Given the description of an element on the screen output the (x, y) to click on. 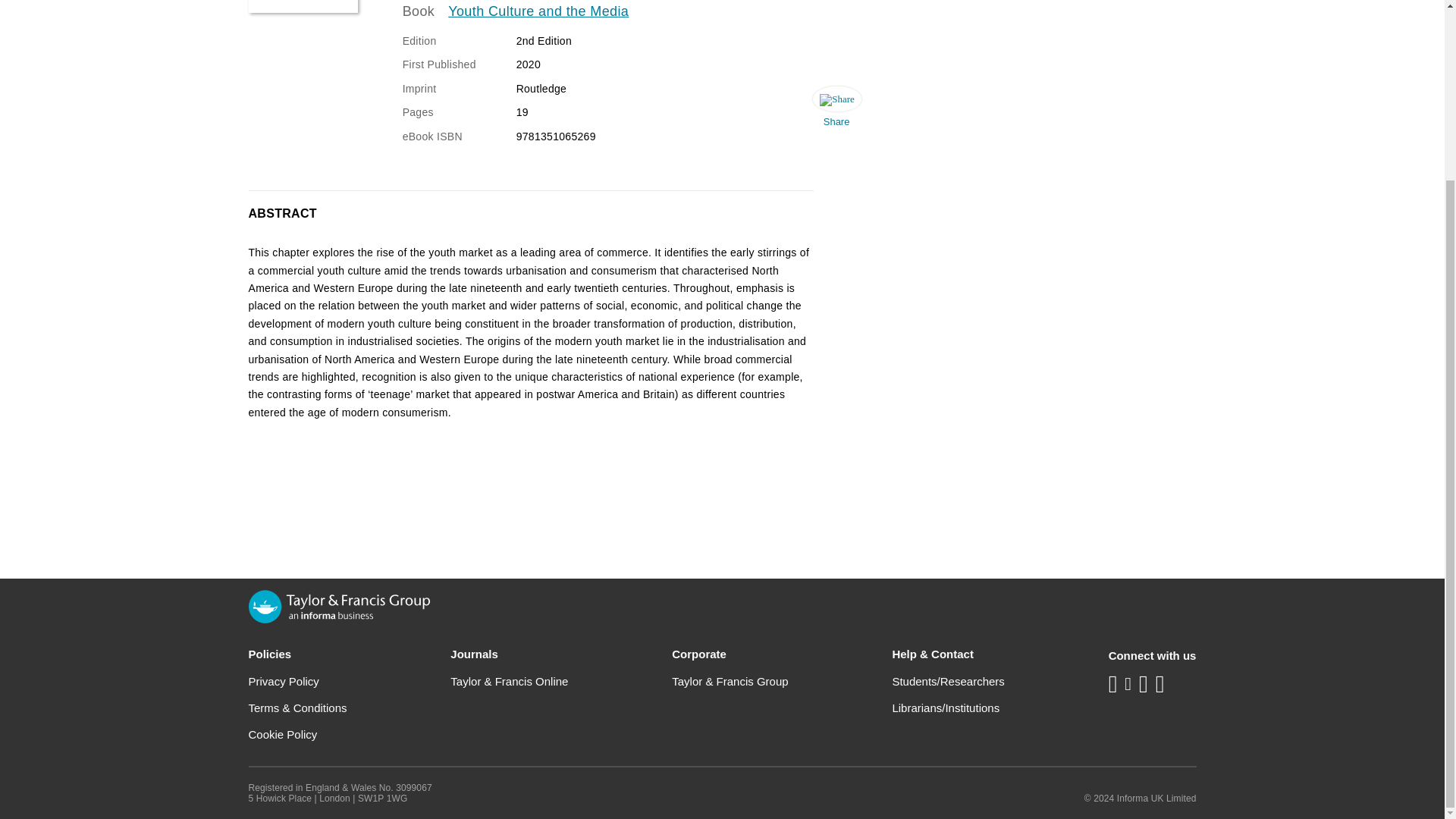
The rise of the teenage media market (303, 6)
Share (836, 110)
Cookie Policy (282, 734)
Privacy Policy (283, 681)
Youth Culture and the Media (538, 11)
